Given the description of an element on the screen output the (x, y) to click on. 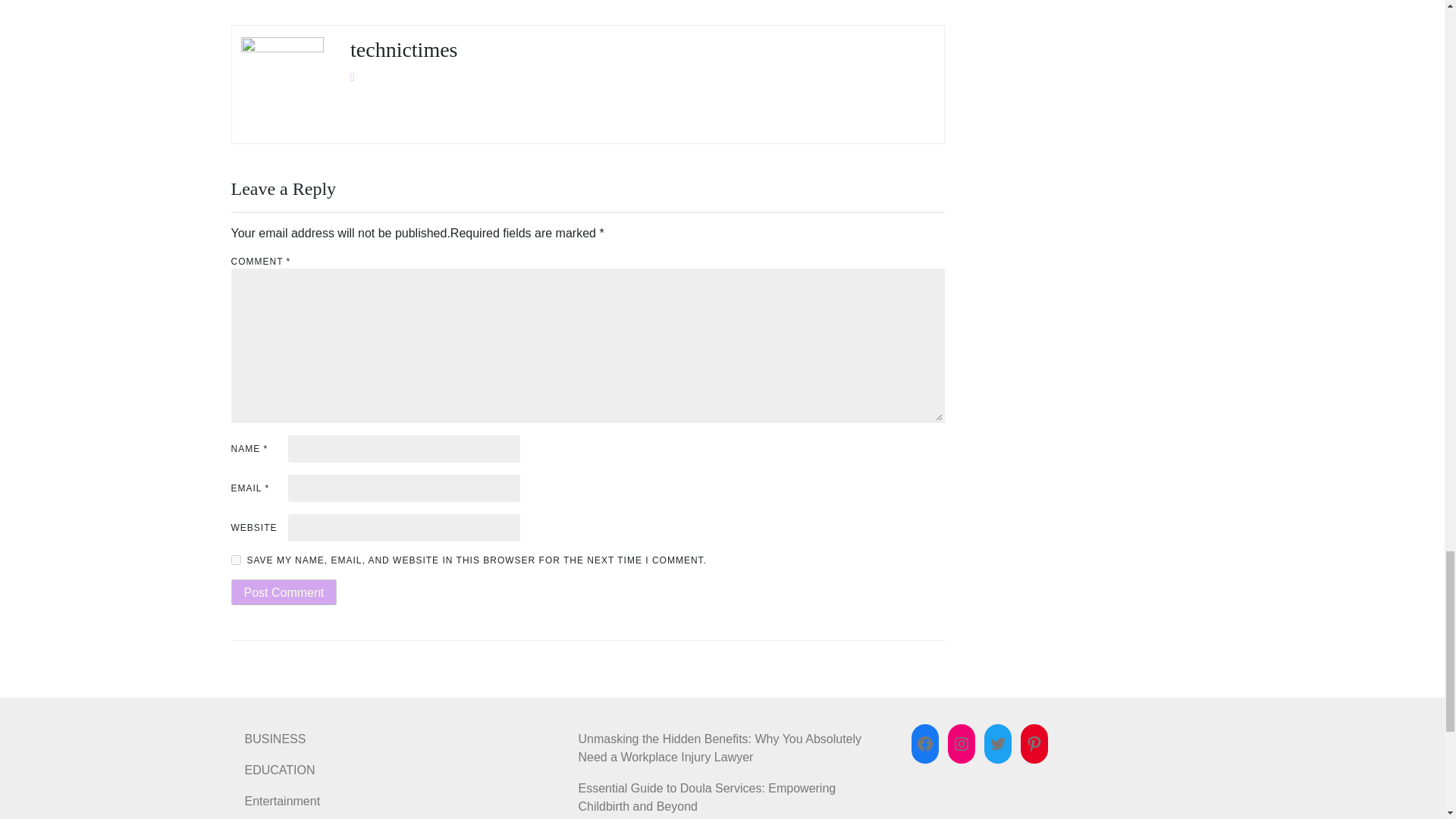
yes (235, 560)
Post Comment (283, 592)
